Given the description of an element on the screen output the (x, y) to click on. 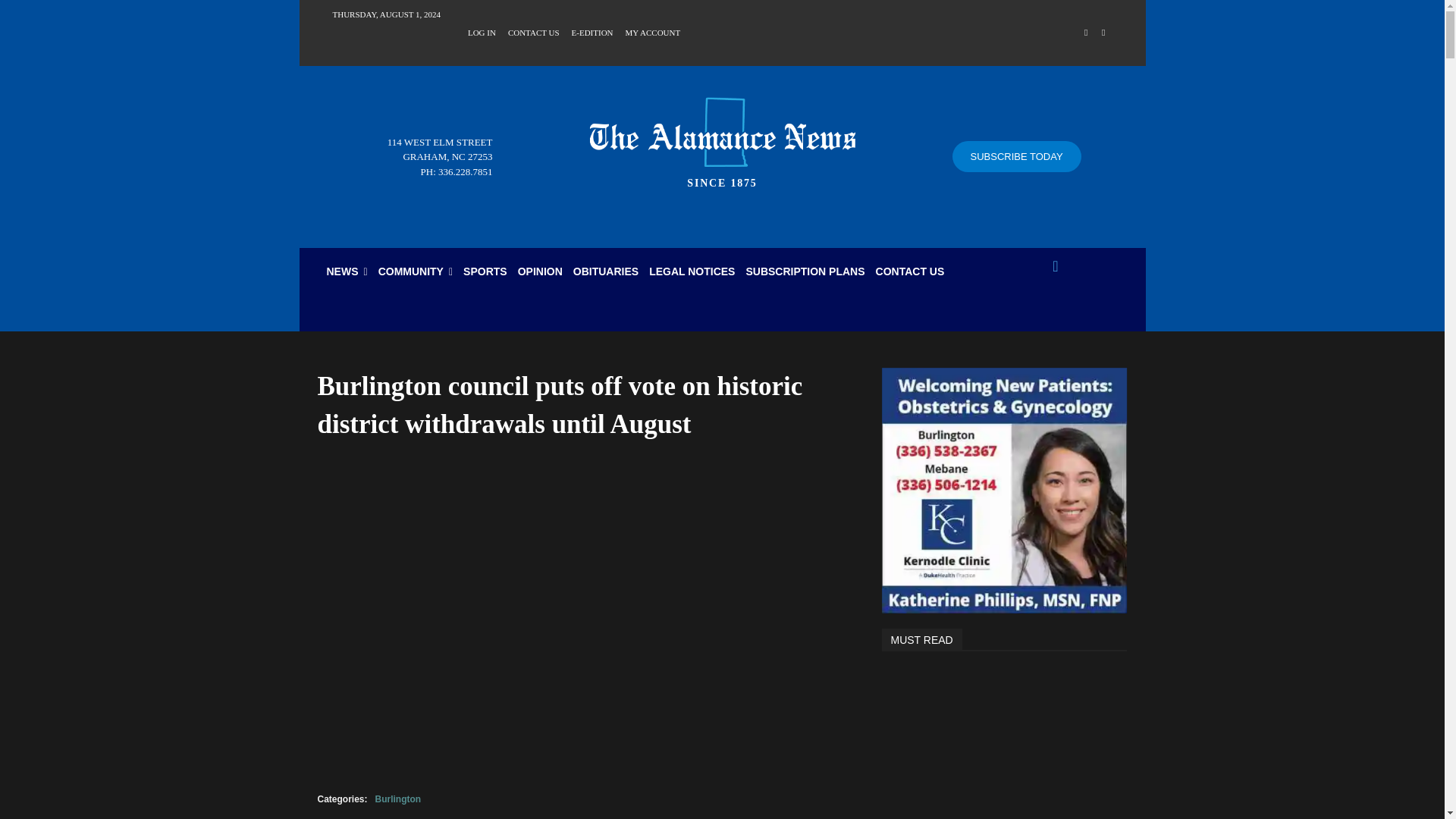
The Alamance News Logo (722, 132)
SUBSCRIBE TODAY (1016, 155)
LOG IN (481, 31)
Twitter (1103, 32)
SINCE 1875 (722, 138)
COMMUNITY (415, 271)
NEWS (346, 271)
CONTACT US (533, 31)
SUBSCRIBE TODAY (1016, 155)
Facebook (1085, 32)
The Alamance News Logo (722, 138)
E-EDITION (592, 31)
MY ACCOUNT (653, 31)
